Given the description of an element on the screen output the (x, y) to click on. 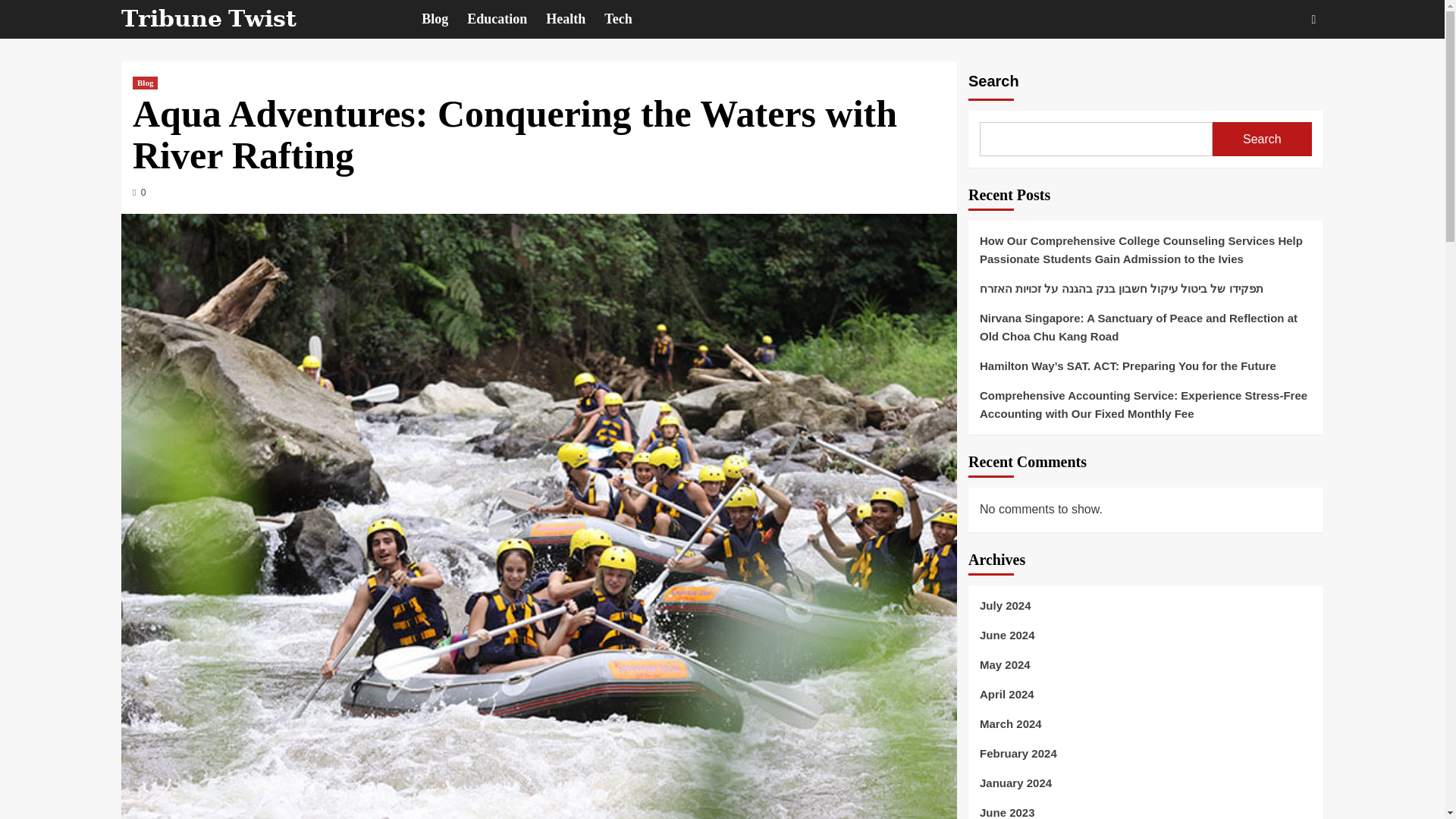
July 2024 (1145, 611)
Blog (444, 19)
Education (506, 19)
February 2024 (1145, 758)
Health (575, 19)
May 2024 (1145, 670)
June 2024 (1145, 641)
0 (138, 192)
March 2024 (1145, 729)
Tech (627, 19)
Search (1278, 65)
Blog (144, 82)
